Given the description of an element on the screen output the (x, y) to click on. 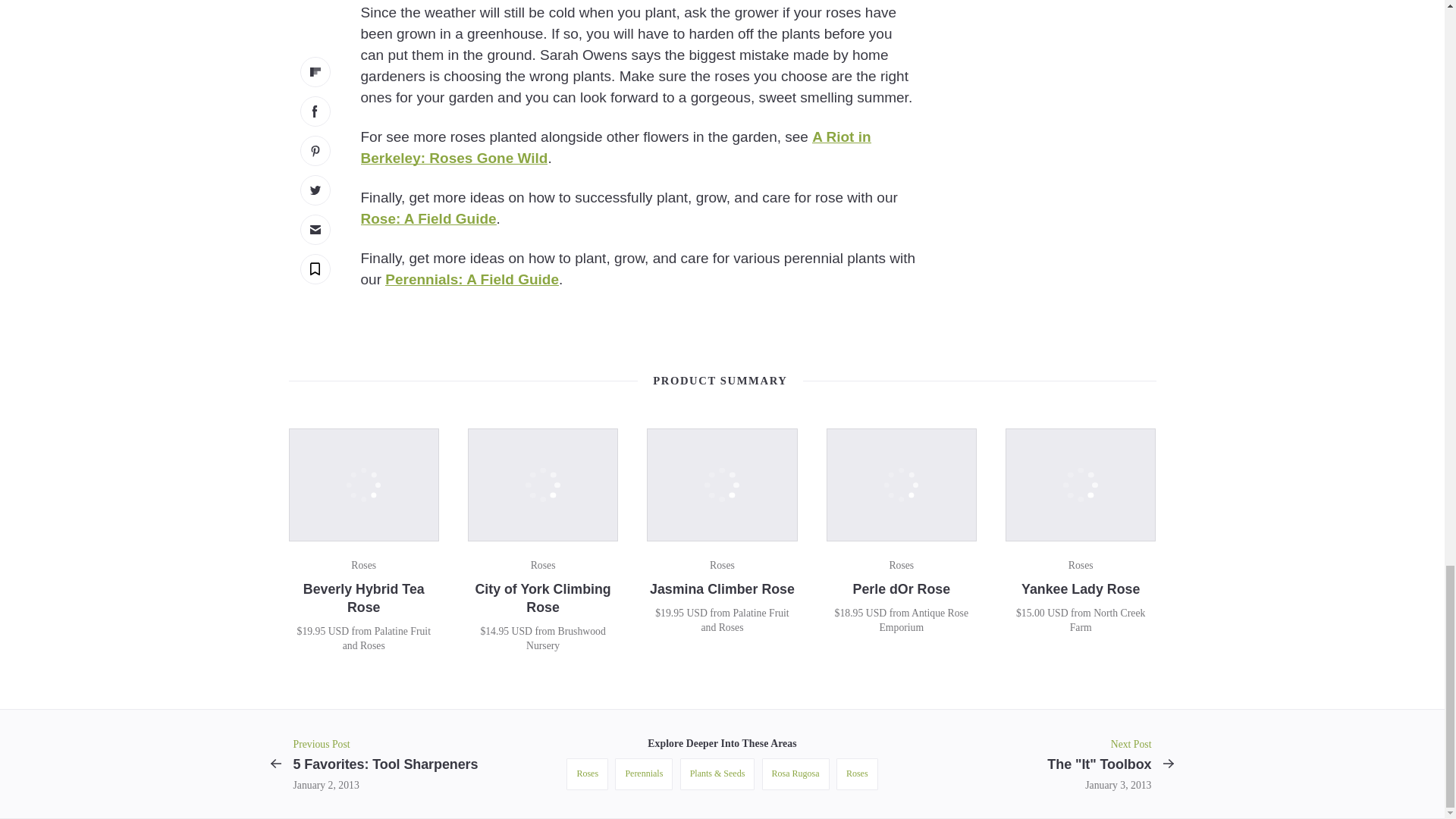
US Dollar (876, 613)
US Dollar (695, 613)
US Dollar (1056, 613)
US Dollar (522, 631)
US Dollar (339, 631)
